Given the description of an element on the screen output the (x, y) to click on. 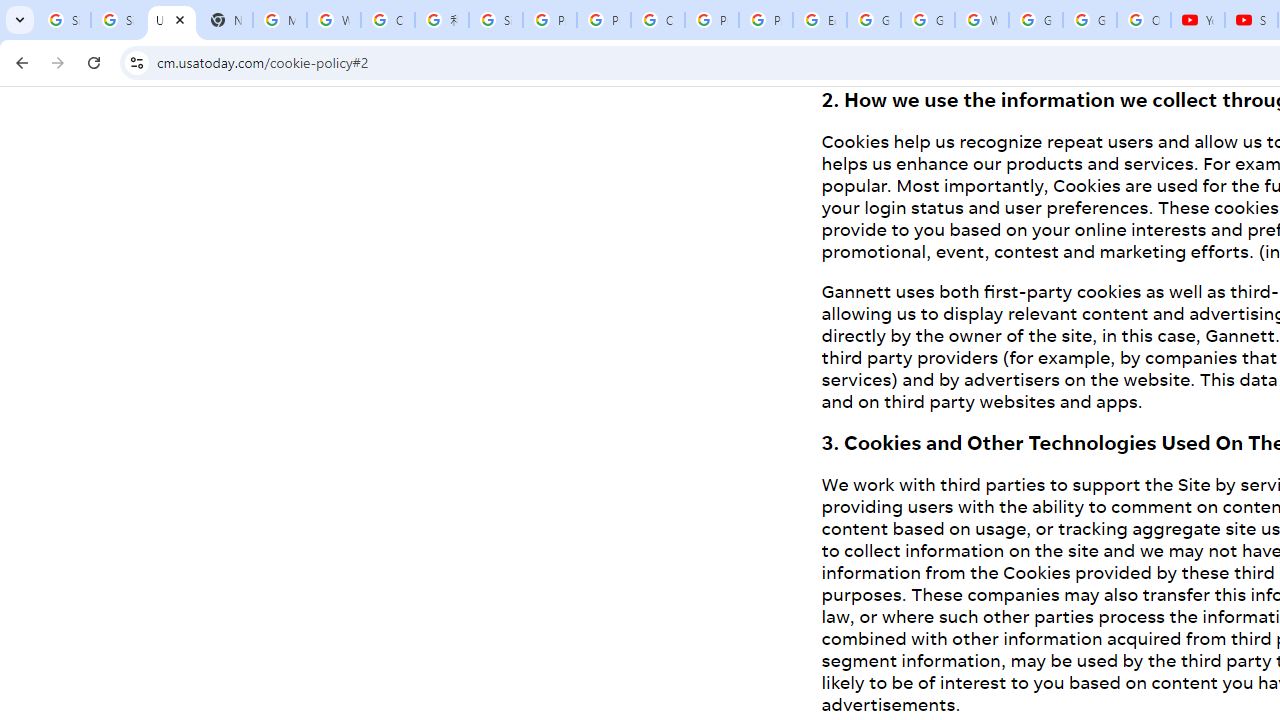
USA TODAY (171, 20)
Create your Google Account (387, 20)
Sign in - Google Accounts (495, 20)
Welcome to My Activity (981, 20)
Google Slides: Sign-in (874, 20)
Who is my administrator? - Google Account Help (333, 20)
